Given the description of an element on the screen output the (x, y) to click on. 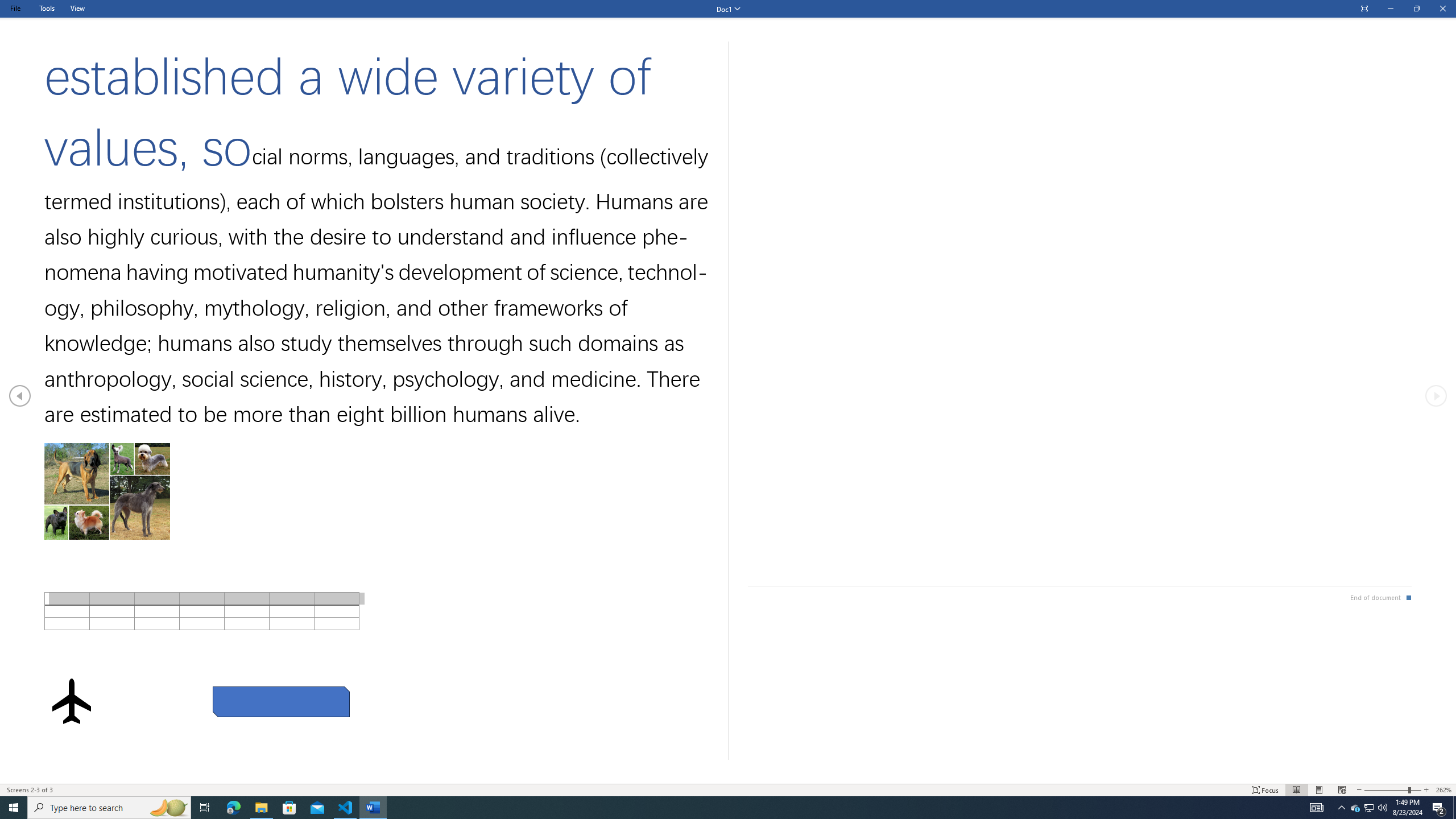
Morphological variation in six dogs (106, 491)
File Tab (15, 8)
Decrease Text Size (1359, 790)
Increase Text Size (1426, 790)
Page Number Screens 2-3 of 3  (29, 790)
Tools (46, 8)
Zoom In (1415, 790)
Focus  (1265, 790)
Class: MsoCommandBar (728, 789)
Text Size (1392, 790)
